Given the description of an element on the screen output the (x, y) to click on. 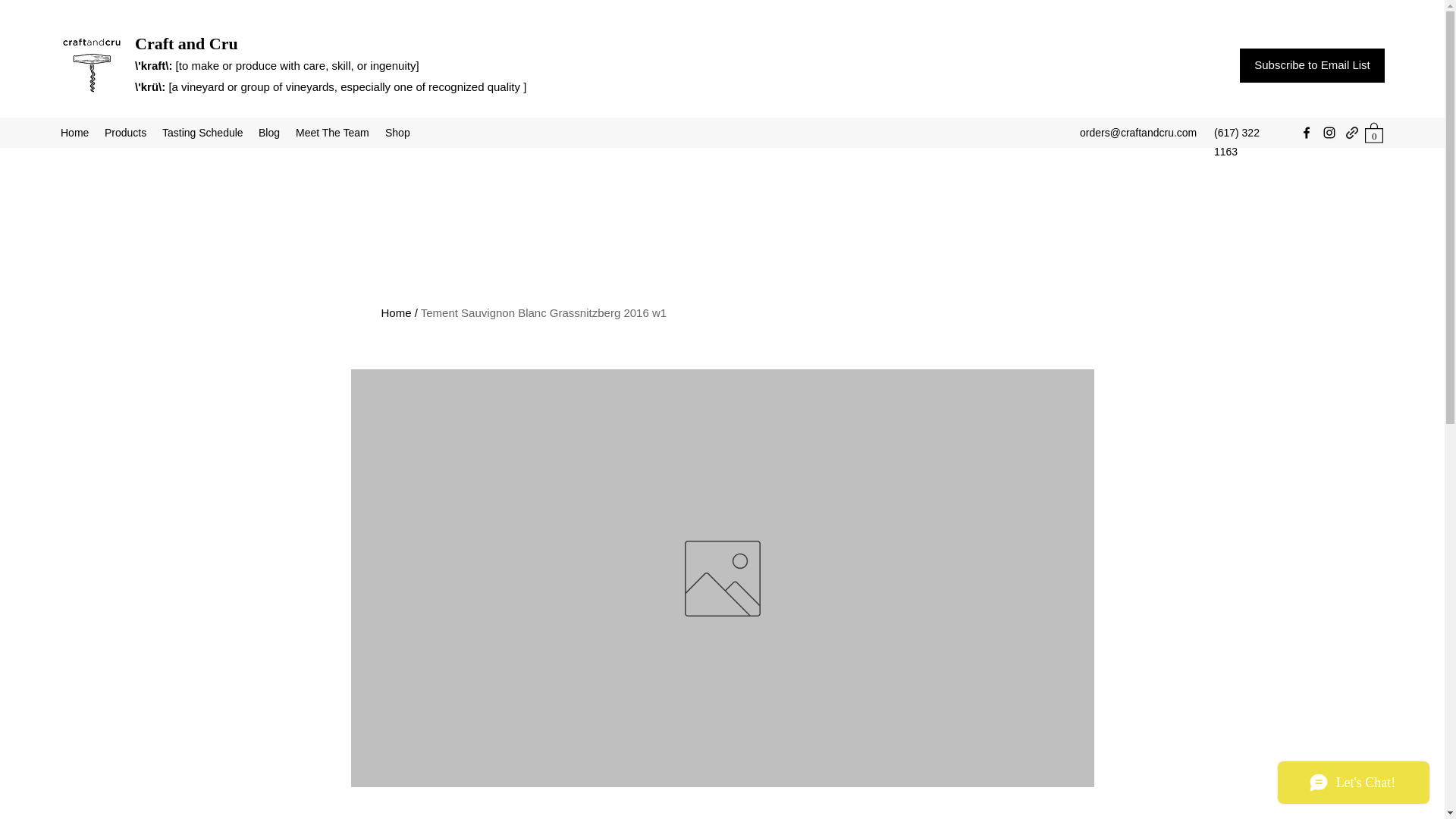
Home (74, 132)
Shop (397, 132)
Subscribe to Email List (1312, 65)
Tasting Schedule (202, 132)
Home (395, 312)
Meet The Team (332, 132)
Tement Sauvignon Blanc Grassnitzberg 2016 w1 (543, 312)
Products (125, 132)
Blog (269, 132)
